Given the description of an element on the screen output the (x, y) to click on. 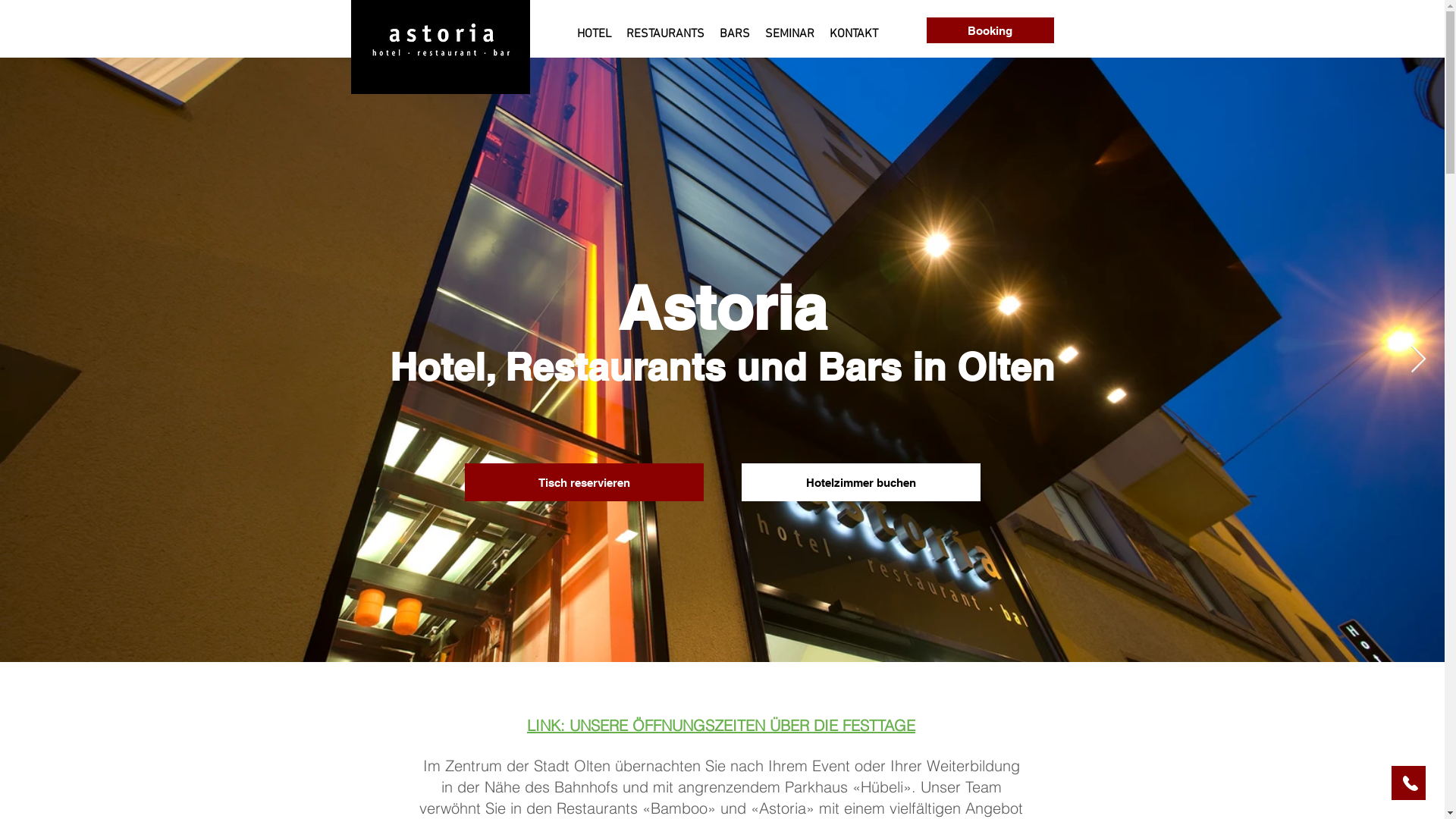
HOTEL Element type: text (593, 27)
Booking Element type: text (990, 30)
Hotelzimmer buchen Element type: text (860, 482)
KONTAKT Element type: text (853, 27)
Astoria-Olten_Logo.jpg Element type: hover (439, 47)
Tisch reservieren Element type: text (583, 482)
SEMINAR Element type: text (788, 27)
BARS Element type: text (733, 27)
RESTAURANTS Element type: text (665, 27)
